Given the description of an element on the screen output the (x, y) to click on. 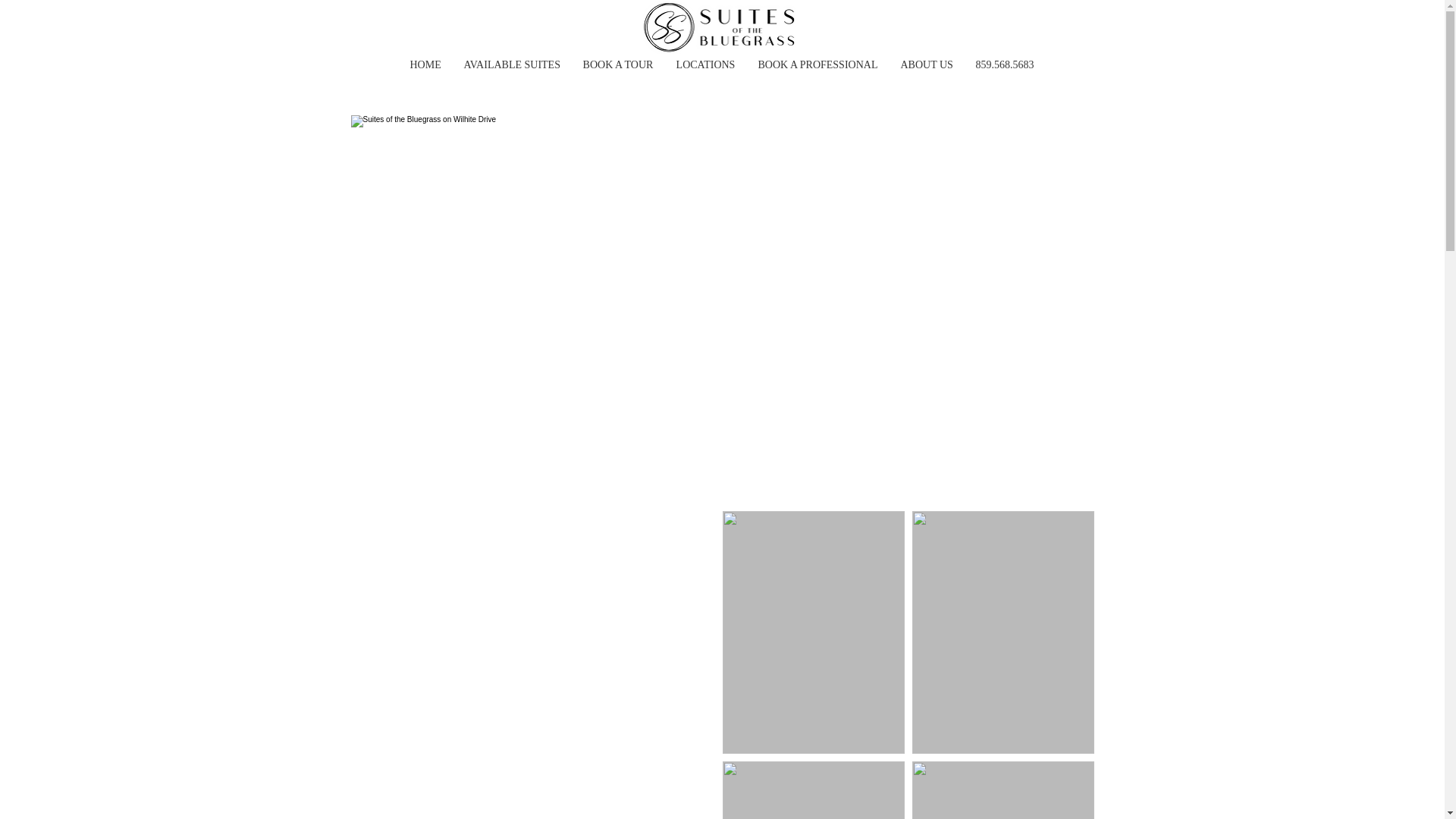
BOOK A TOUR (618, 64)
AVAILABLE SUITES (510, 64)
HOME (425, 64)
859.568.5683 (1004, 64)
ABOUT US (925, 64)
BOOK A PROFESSIONAL (816, 64)
